Given the description of an element on the screen output the (x, y) to click on. 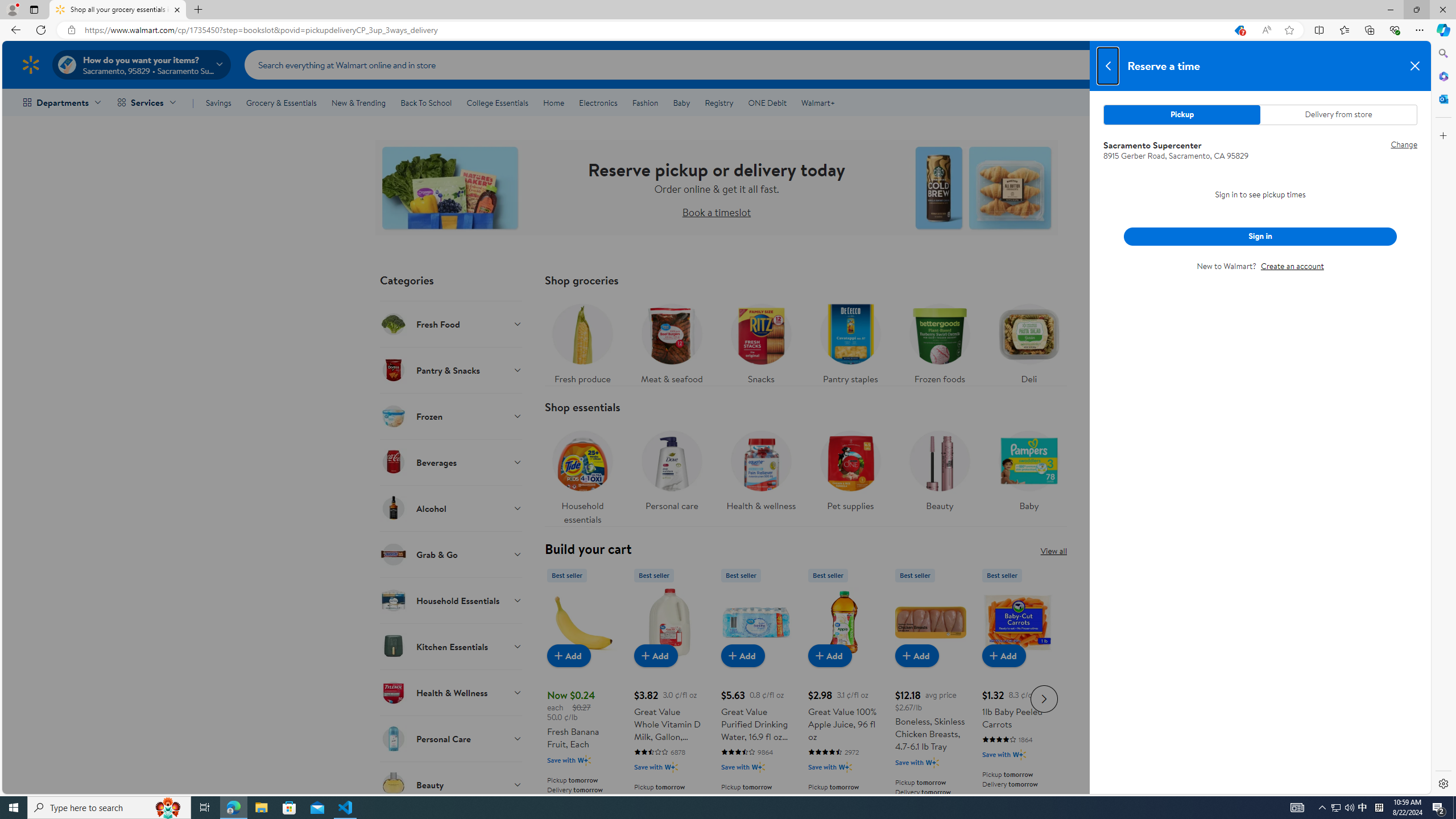
Pet supplies (850, 473)
Frozen foods (938, 340)
Change store (1398, 143)
Pantry staples (850, 340)
This site has coupons! Shopping in Microsoft Edge, 7 (1239, 29)
Fashion (644, 102)
Walmart Homepage (30, 64)
Health & Wellness (451, 692)
Electronics (598, 102)
Pickup, selected (1181, 114)
